Given the description of an element on the screen output the (x, y) to click on. 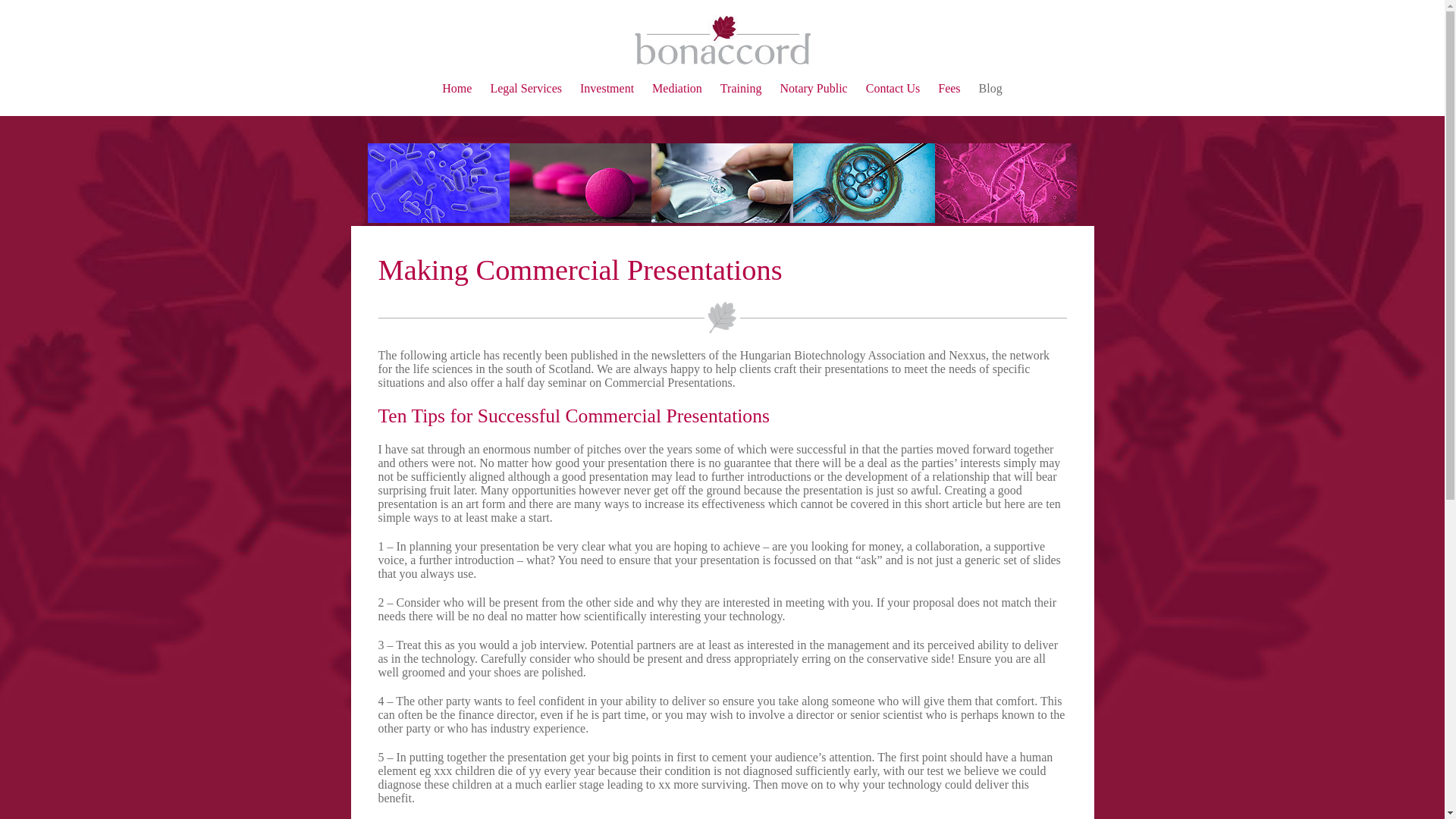
Home (456, 88)
Blog (990, 88)
Investment (606, 88)
Legal Services (525, 88)
Notary Public (812, 88)
Contact Us (893, 88)
Blog (990, 88)
Training (740, 88)
Investment (606, 88)
Mediation (676, 88)
